Given the description of an element on the screen output the (x, y) to click on. 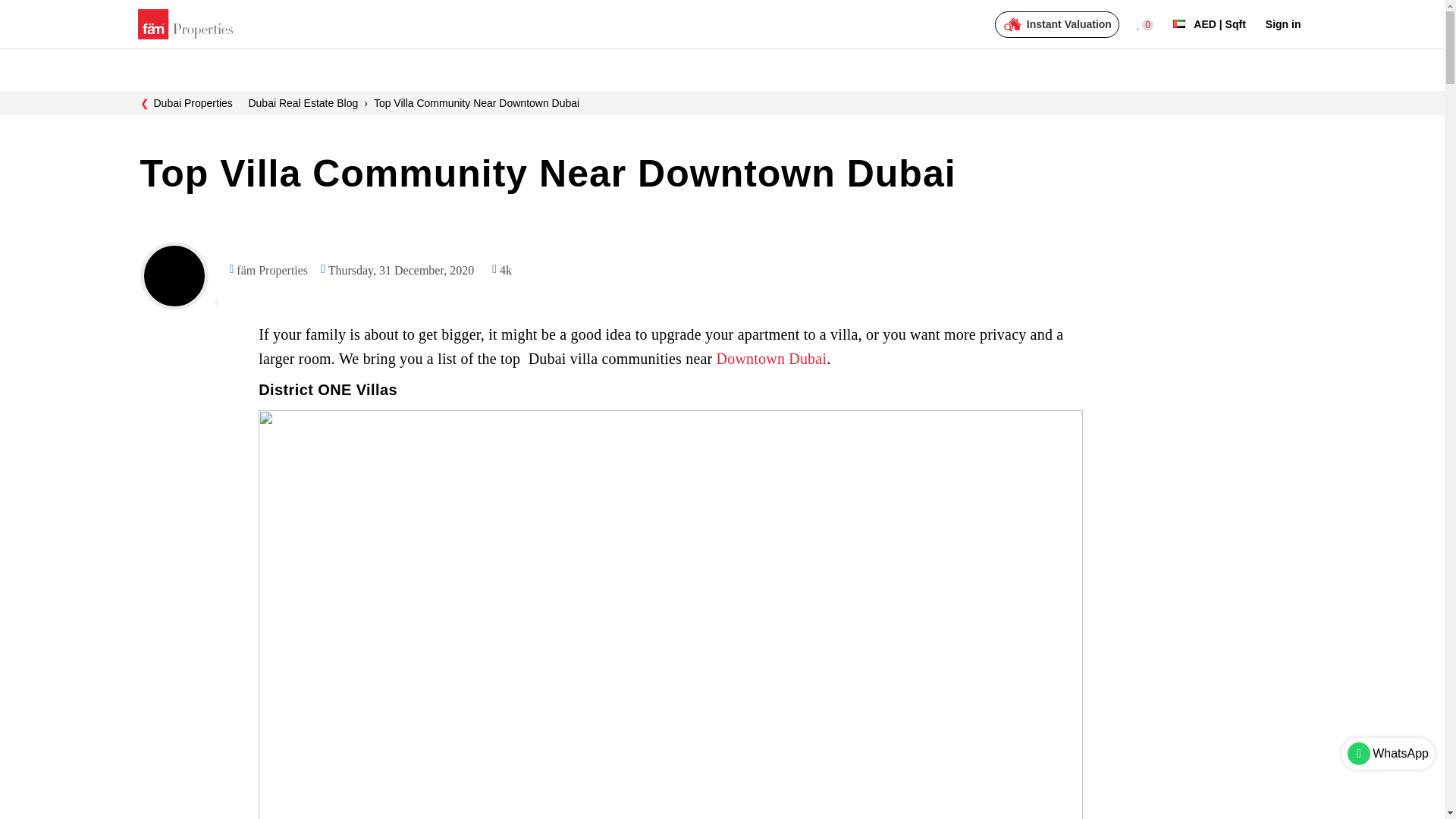
Valuation (1056, 24)
Sign in (1283, 23)
0 (1144, 24)
Instant Valuation (1056, 24)
